Given the description of an element on the screen output the (x, y) to click on. 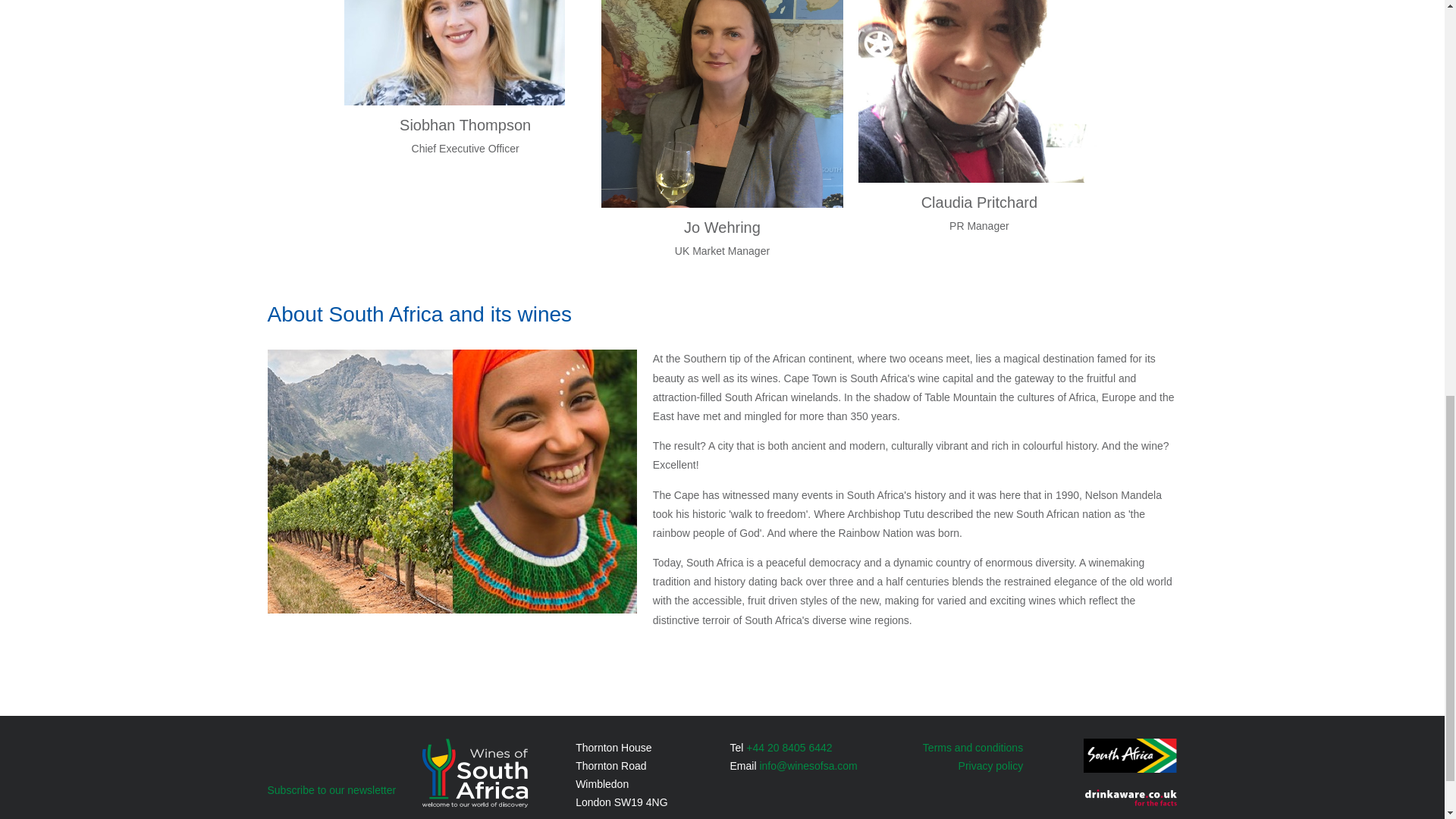
Terms and conditions (973, 747)
Subscribe to our newsletter (331, 789)
Privacy policy (990, 766)
